Given the description of an element on the screen output the (x, y) to click on. 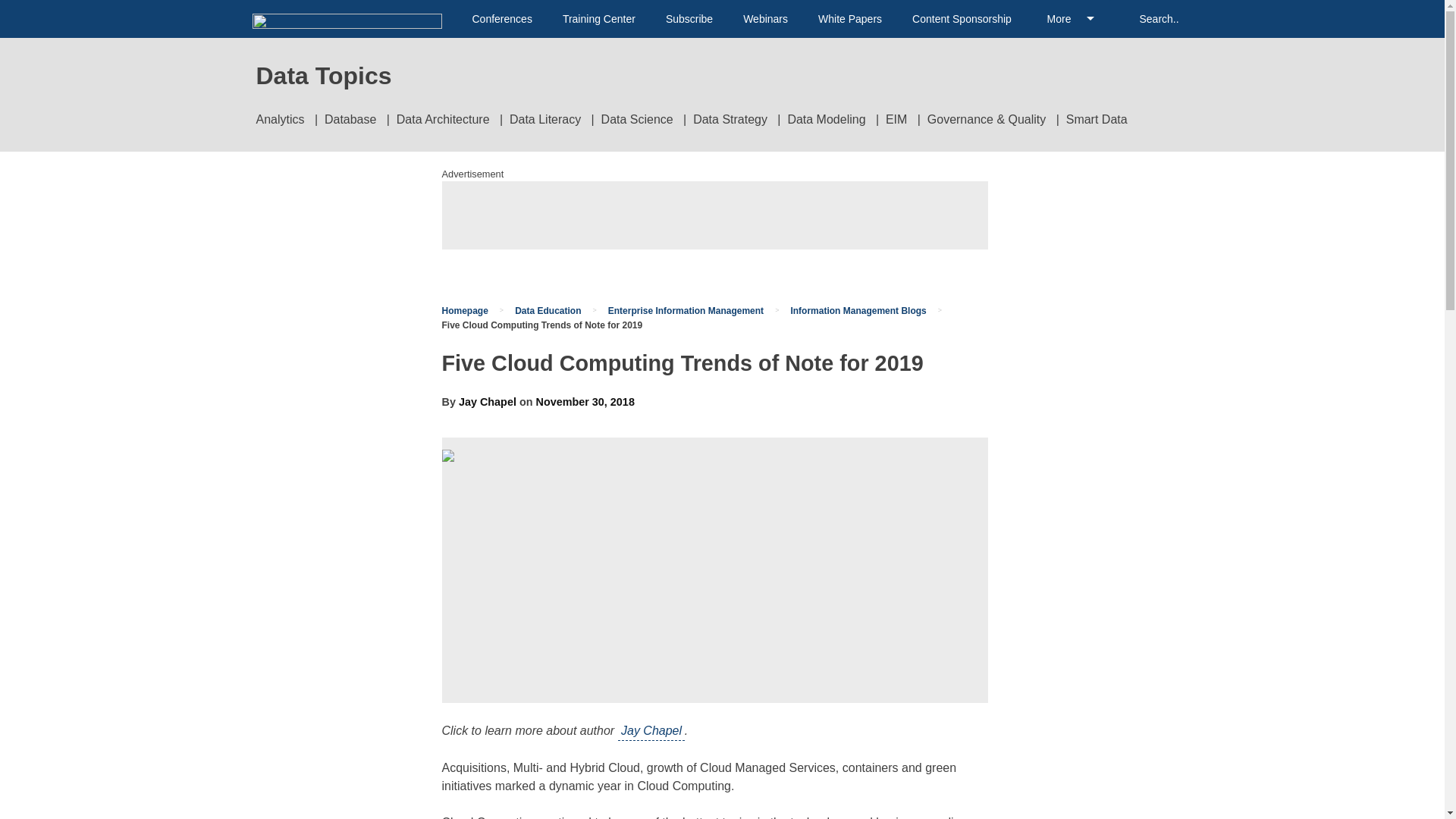
Data Education (547, 310)
Database (350, 119)
Enterprise Information Management (685, 310)
Smart Data (1095, 119)
Homepage (464, 310)
Analytics (280, 119)
Training Center (598, 19)
Five Cloud Computing Trends of Note for 2019 (541, 325)
Data Strategy (730, 119)
Conferences (501, 19)
